Given the description of an element on the screen output the (x, y) to click on. 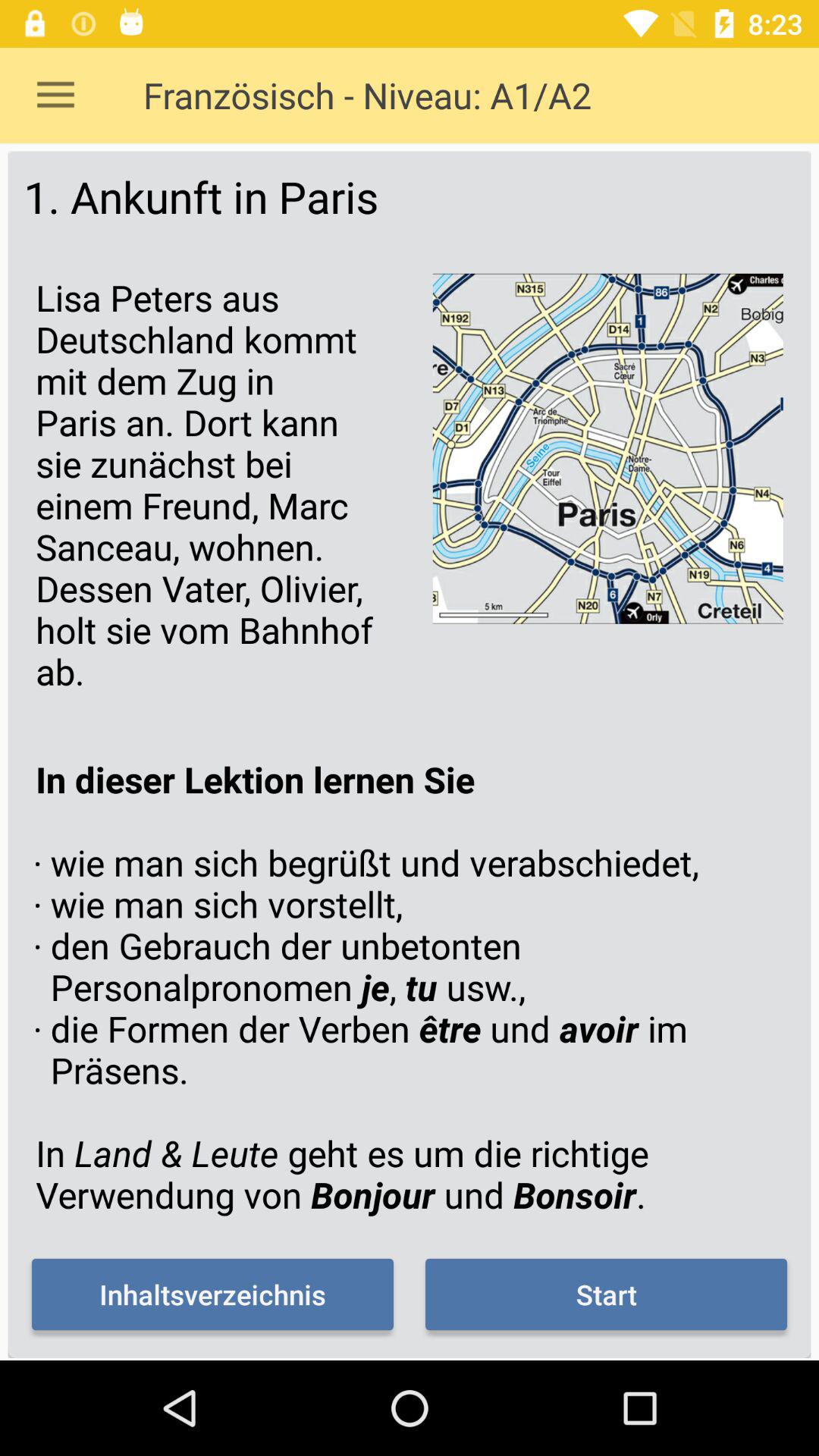
scroll until inhaltsverzeichnis item (212, 1294)
